Given the description of an element on the screen output the (x, y) to click on. 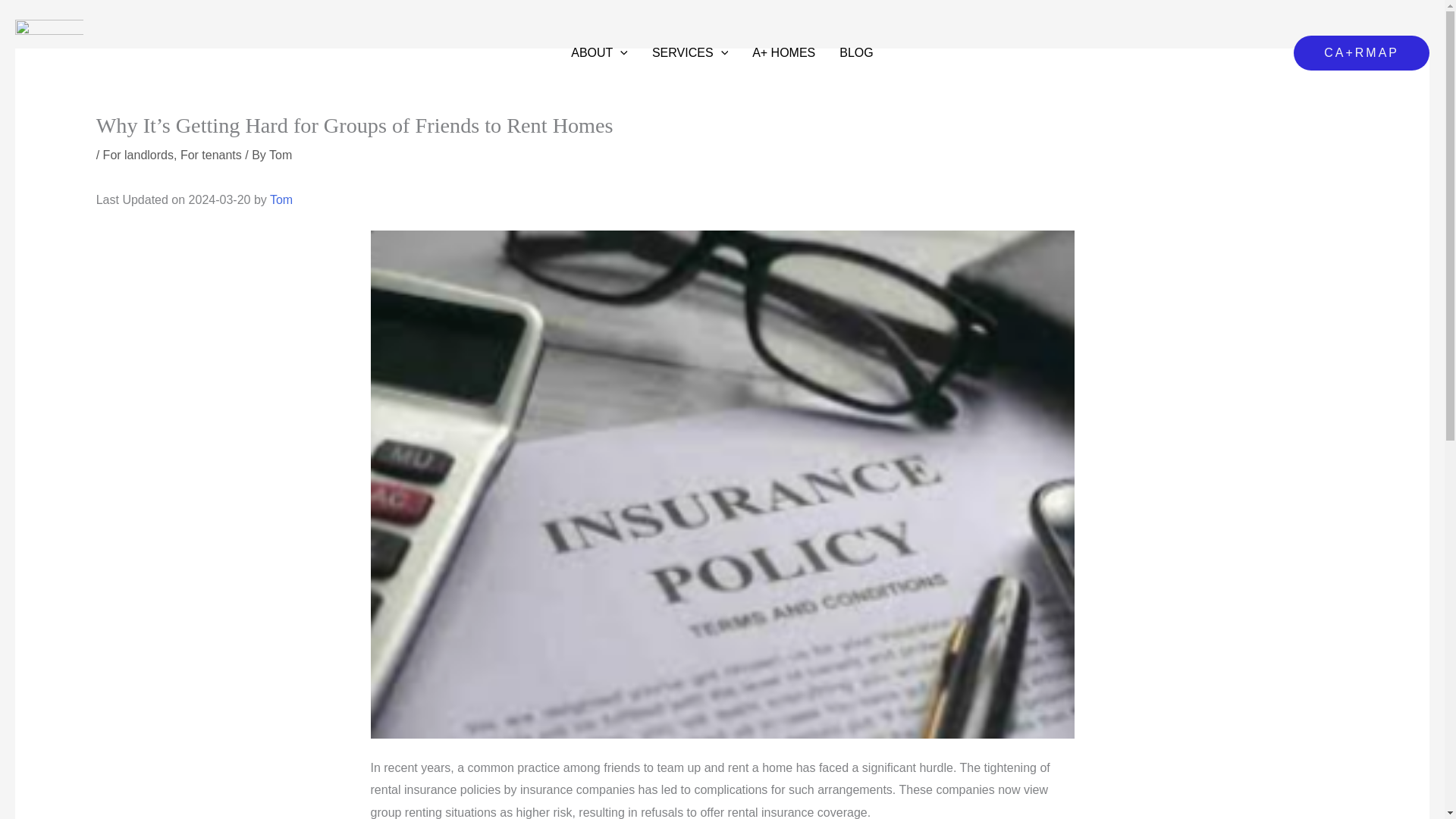
BLOG (856, 52)
ABOUT (599, 52)
View all posts by Tom (280, 154)
SERVICES (689, 52)
